Given the description of an element on the screen output the (x, y) to click on. 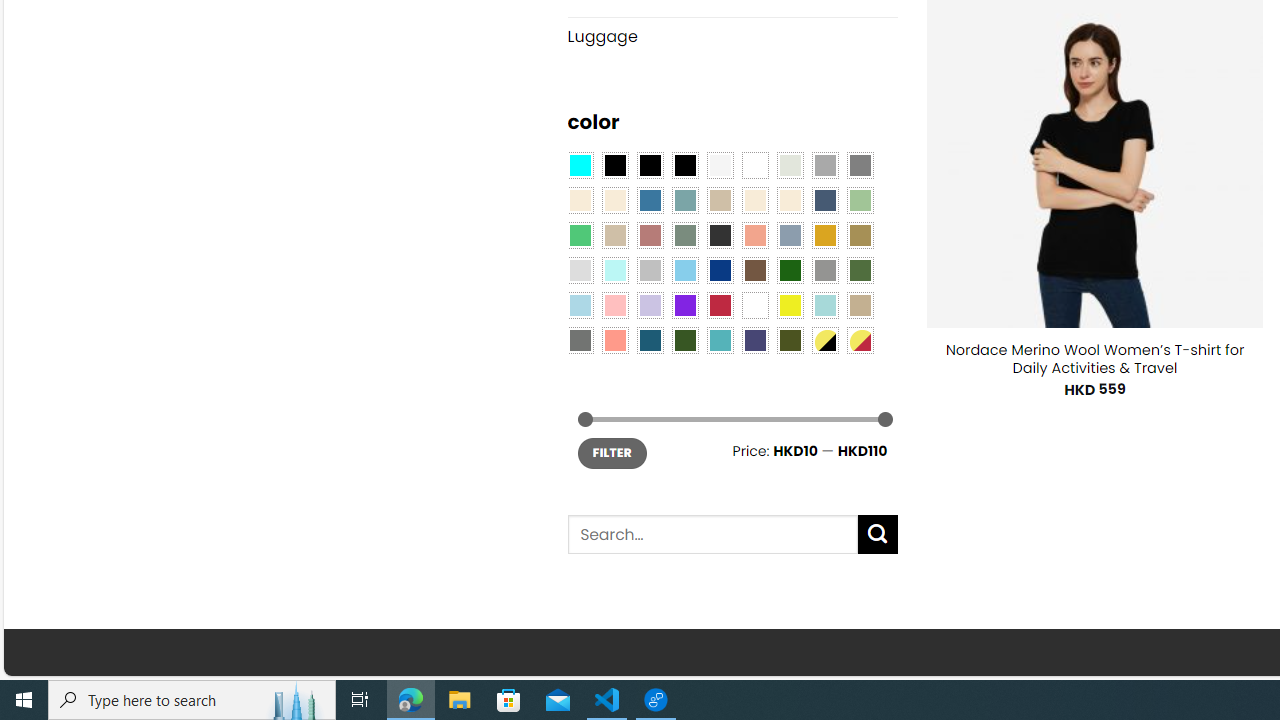
Cream (789, 200)
Light Green (859, 200)
Aqua (824, 305)
Yellow-Red (859, 339)
Army Green (789, 339)
Search for: (712, 533)
Pearly White (719, 164)
Rose (650, 234)
Gold (824, 234)
Brownie (719, 200)
Brown (755, 269)
Beige (579, 200)
Yellow (789, 305)
Silver (650, 269)
Aqua Blue (579, 164)
